Given the description of an element on the screen output the (x, y) to click on. 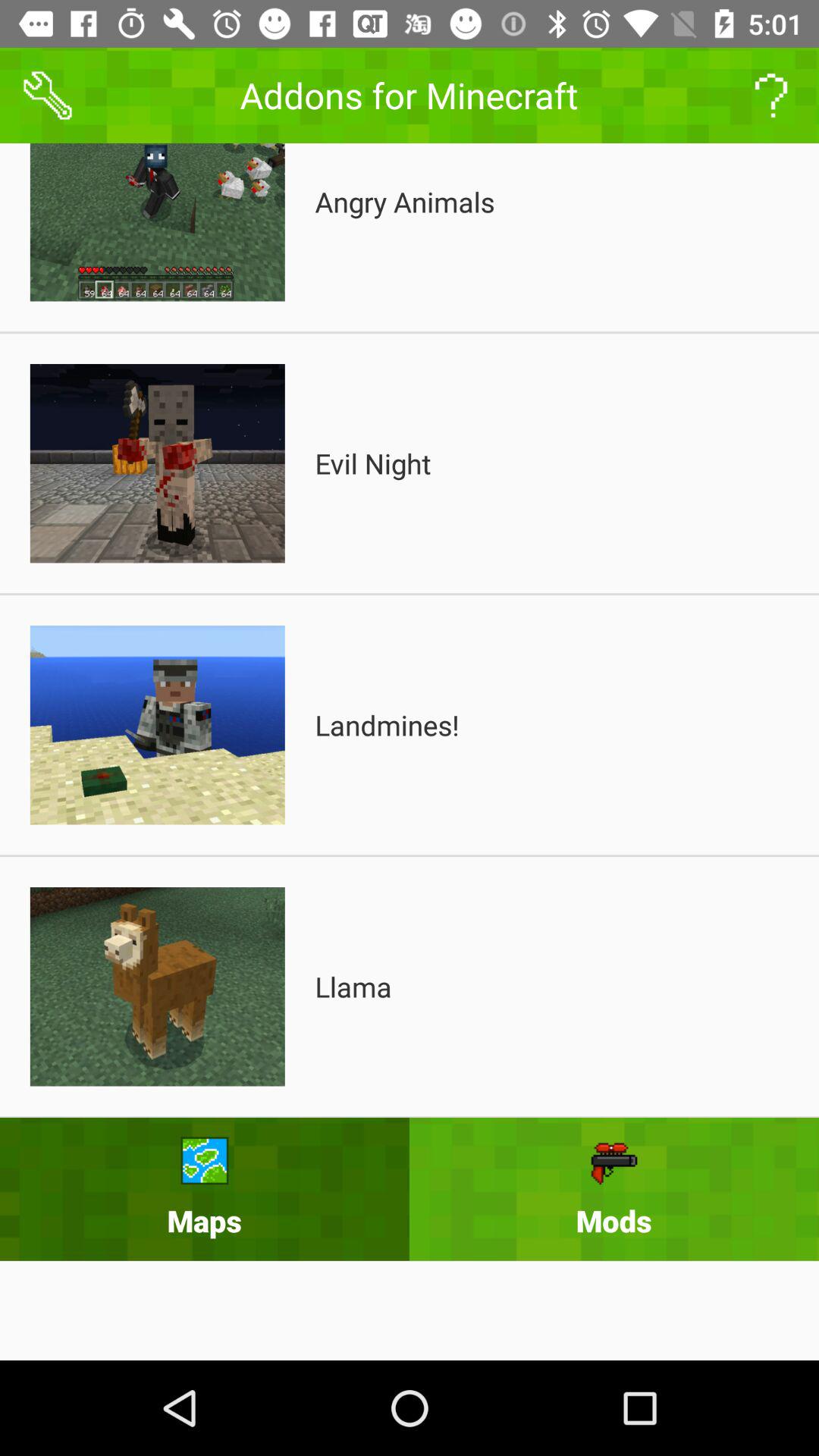
select item at the center (387, 724)
